Given the description of an element on the screen output the (x, y) to click on. 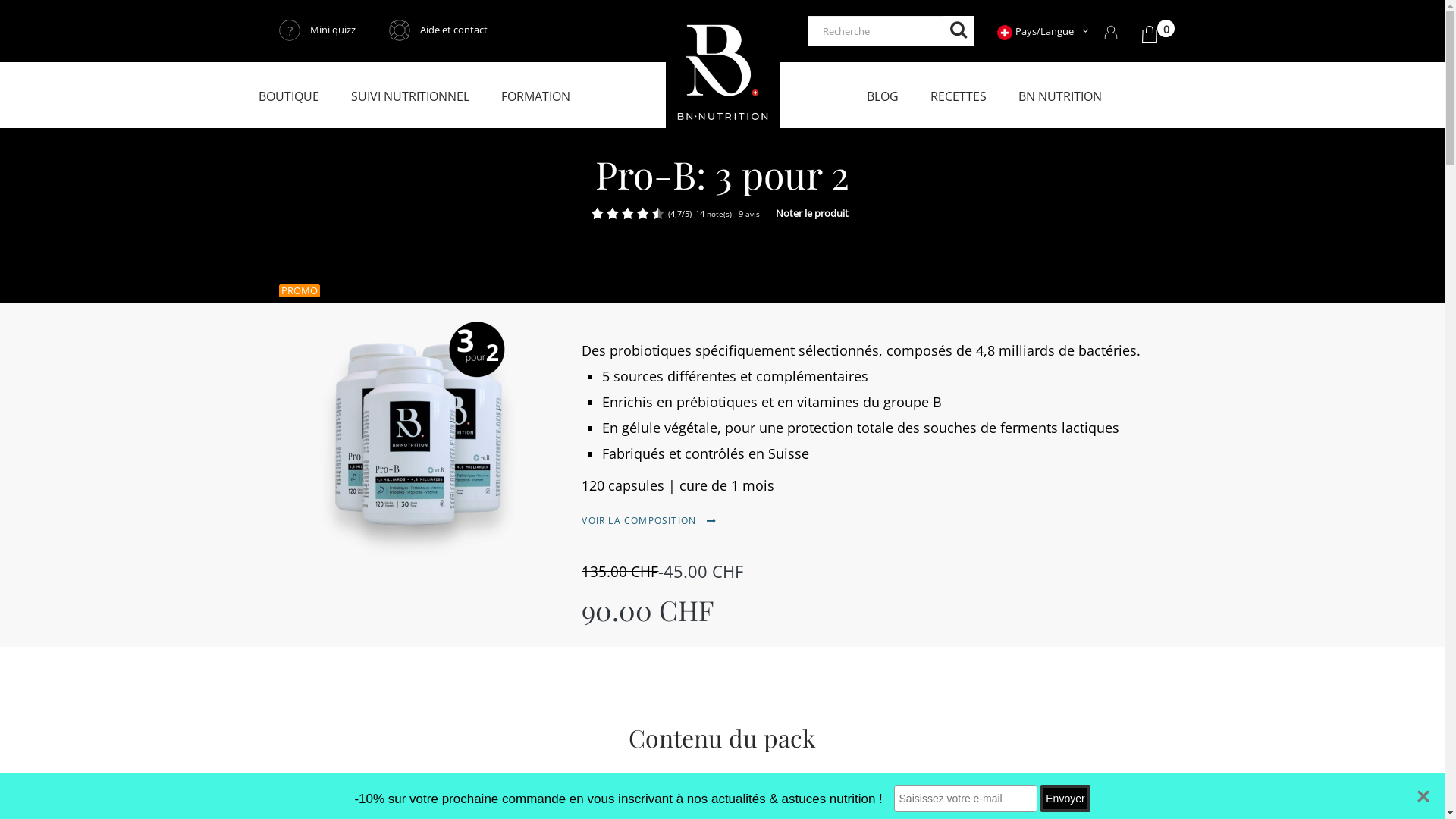
Aide et contact Element type: text (437, 29)
SUIVI NUTRITIONNEL Element type: text (413, 96)
Pro-B: 3 pour 2 Element type: hover (418, 424)
FORMATION Element type: text (539, 96)
RECETTES Element type: text (961, 96)
BOUTIQUE Element type: text (292, 96)
Envoyer Element type: text (1064, 798)
10 Element type: hover (659, 213)
BN NUTRITION Element type: text (1063, 96)
9 Element type: hover (651, 213)
Noter le produit Element type: text (807, 214)
BLOG Element type: text (886, 96)
Se connecter comme un client Element type: hover (1110, 30)
5 Element type: hover (621, 213)
3 Element type: hover (606, 213)
4 Element type: hover (613, 213)
1 Element type: hover (591, 213)
6 Element type: hover (628, 213)
7 Element type: hover (636, 213)
0 Element type: text (1149, 31)
VOIR LA COMPOSITION Element type: text (648, 520)
8 Element type: hover (644, 213)
2 Element type: hover (598, 213)
Bourquin Nutrition SA Element type: hover (722, 73)
Search Element type: hover (958, 30)
Mini quizz Element type: text (317, 29)
